Given the description of an element on the screen output the (x, y) to click on. 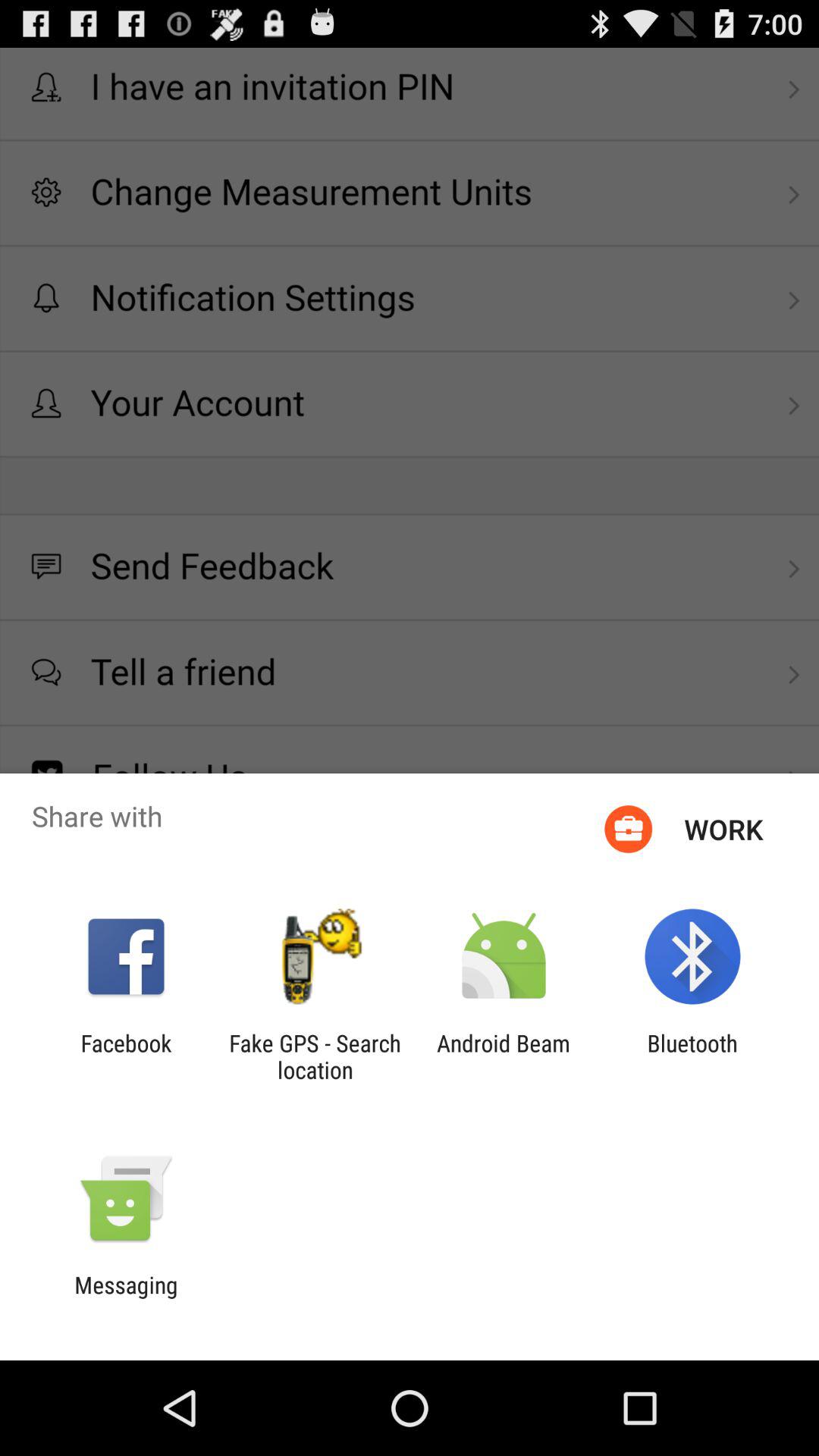
jump to the fake gps search (314, 1056)
